Given the description of an element on the screen output the (x, y) to click on. 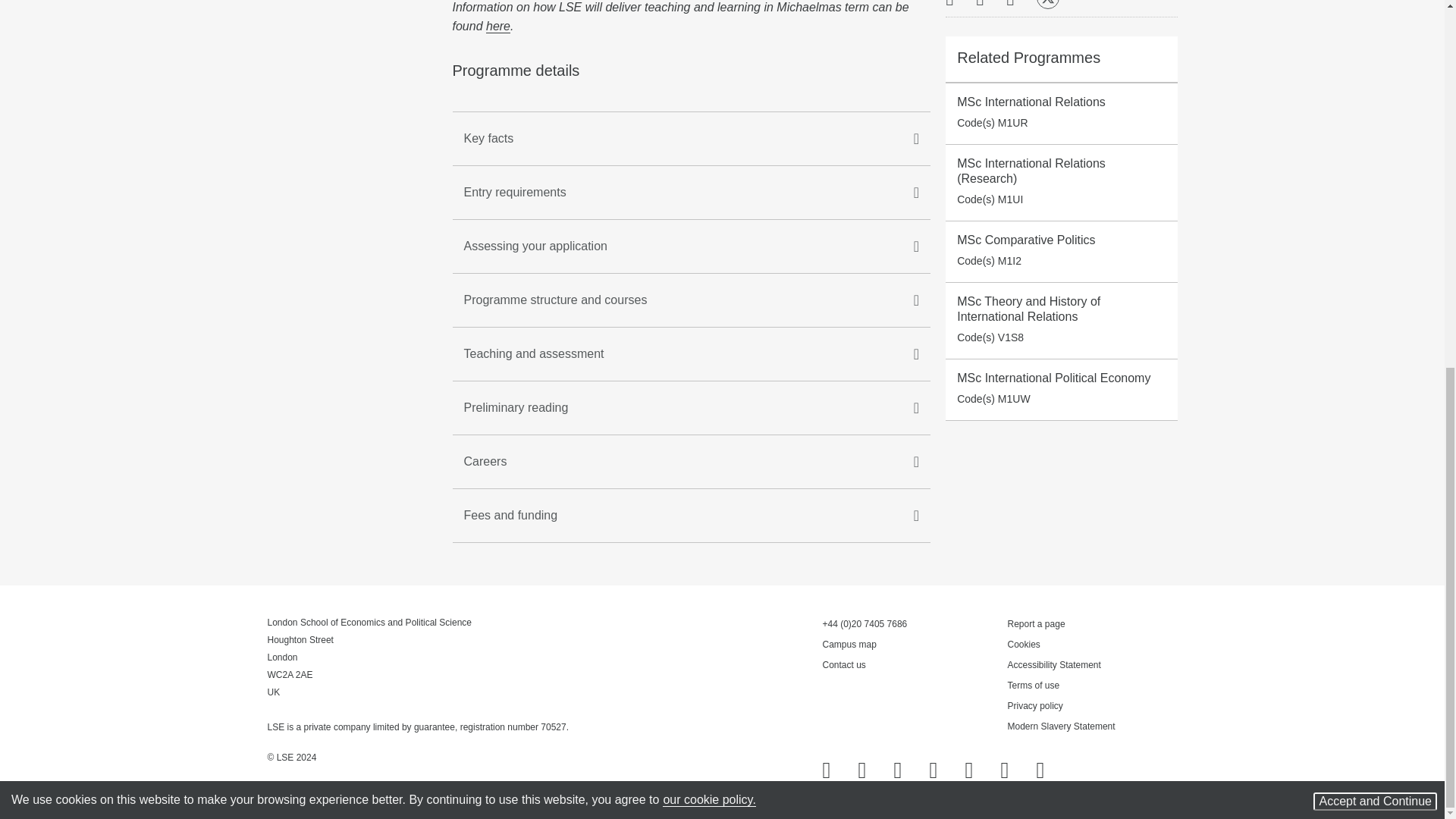
Accept and Continue (1375, 136)
our cookie policy. (708, 135)
